Given the description of an element on the screen output the (x, y) to click on. 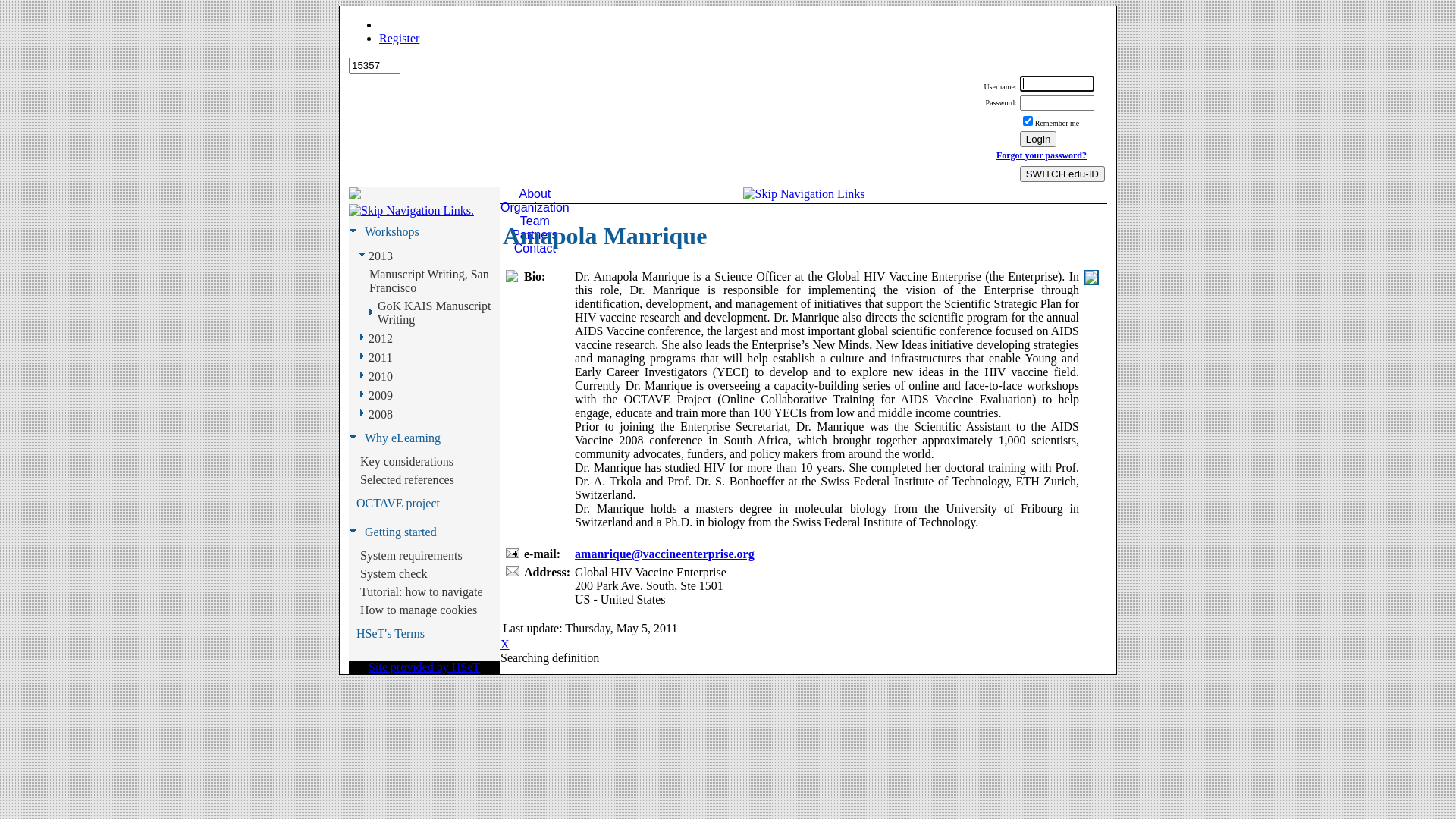
GoK KAIS Manuscript Writing Element type: text (437, 312)
Team Element type: text (534, 221)
2010 Element type: text (380, 376)
Register Element type: text (399, 37)
2009 Element type: text (380, 394)
2008 Element type: text (380, 414)
X Element type: text (504, 643)
HSeT's Terms Element type: text (390, 633)
Key considerations Element type: text (406, 461)
How to manage cookies Element type: text (418, 610)
Forgot your password? Element type: text (1041, 155)
Contact Element type: text (534, 248)
Login Element type: text (1038, 139)
Site provided by HSeT Element type: text (424, 666)
Partners Element type: text (534, 234)
Selected references Element type: text (406, 479)
2012 Element type: text (380, 338)
System requirements Element type: text (410, 555)
OCTAVE project Element type: text (397, 503)
Manuscript Writing, San Francisco Element type: text (433, 280)
2013 Element type: text (380, 255)
SWITCH edu-ID Element type: text (1061, 174)
Getting started Element type: text (400, 532)
Login Element type: hover (1056, 83)
amanrique@vaccineenterprise.org Element type: text (664, 553)
2011 Element type: text (380, 357)
Why eLearning Element type: text (402, 438)
Workshops Element type: text (391, 231)
Organization Element type: text (534, 207)
System check Element type: text (393, 573)
About Element type: text (534, 193)
Tutorial: how to navigate Element type: text (421, 592)
Password Element type: hover (1056, 102)
